Given the description of an element on the screen output the (x, y) to click on. 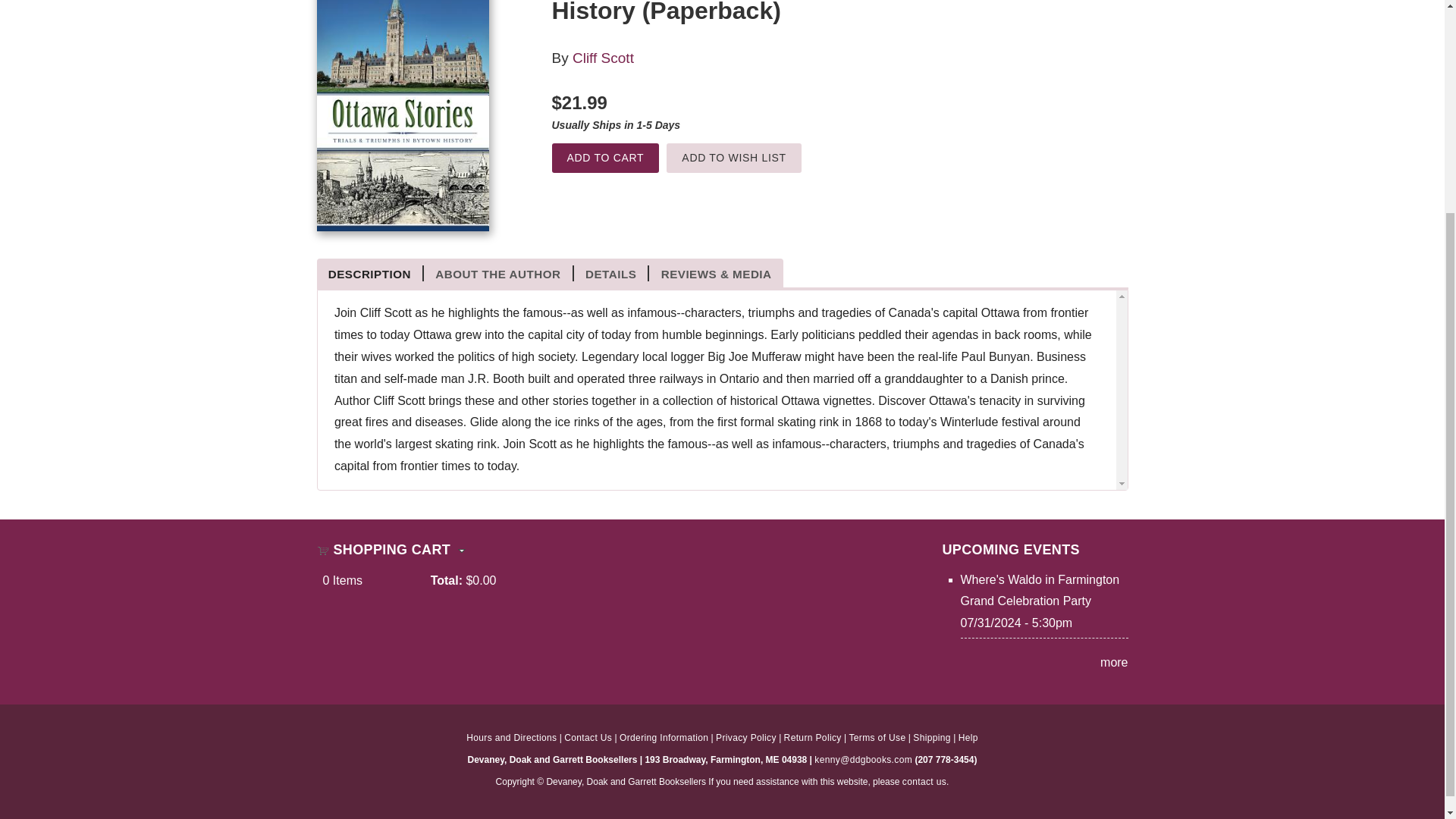
Add to Cart (605, 157)
